Given the description of an element on the screen output the (x, y) to click on. 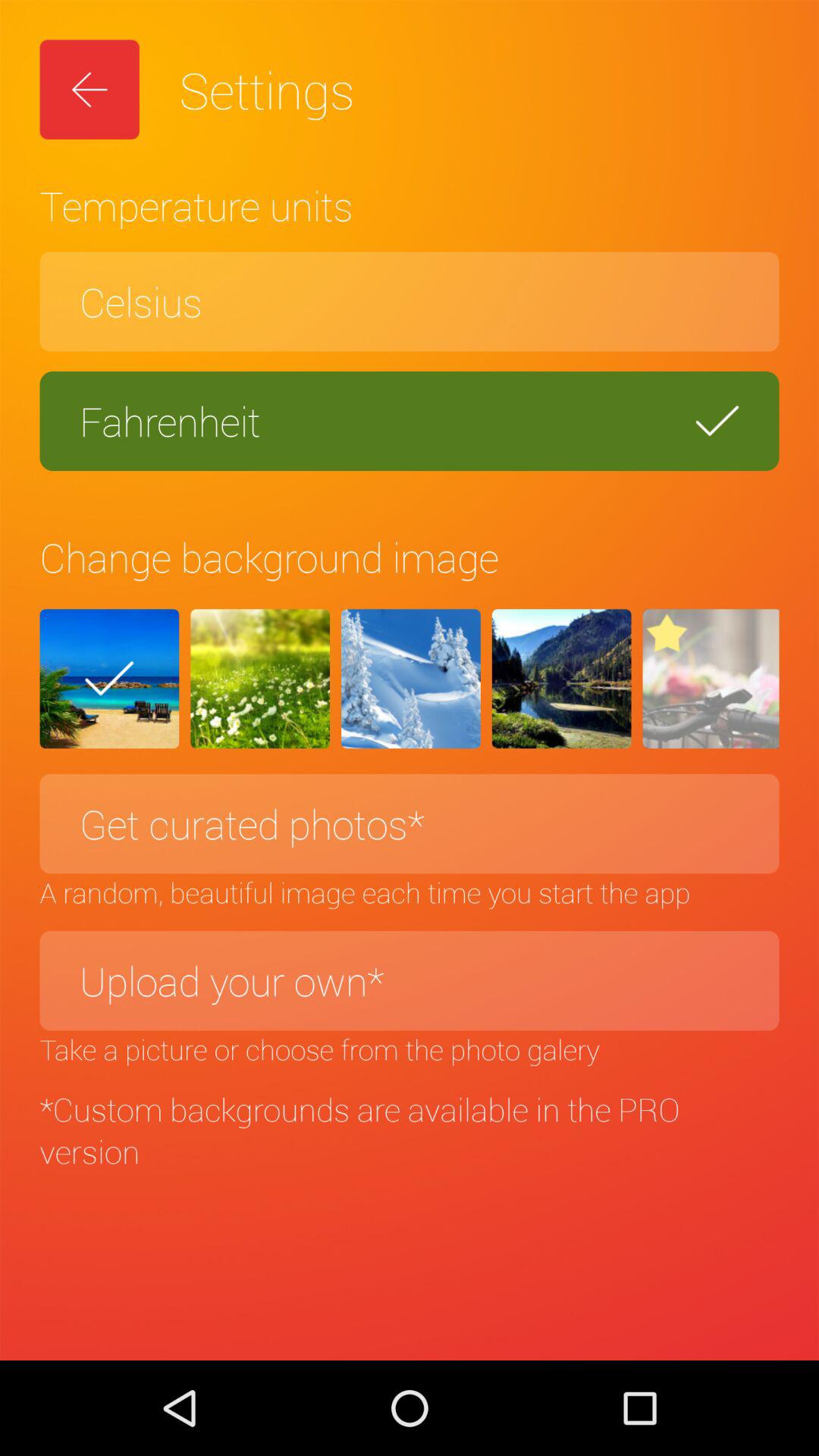
swipe to custom backgrounds are item (409, 1130)
